Given the description of an element on the screen output the (x, y) to click on. 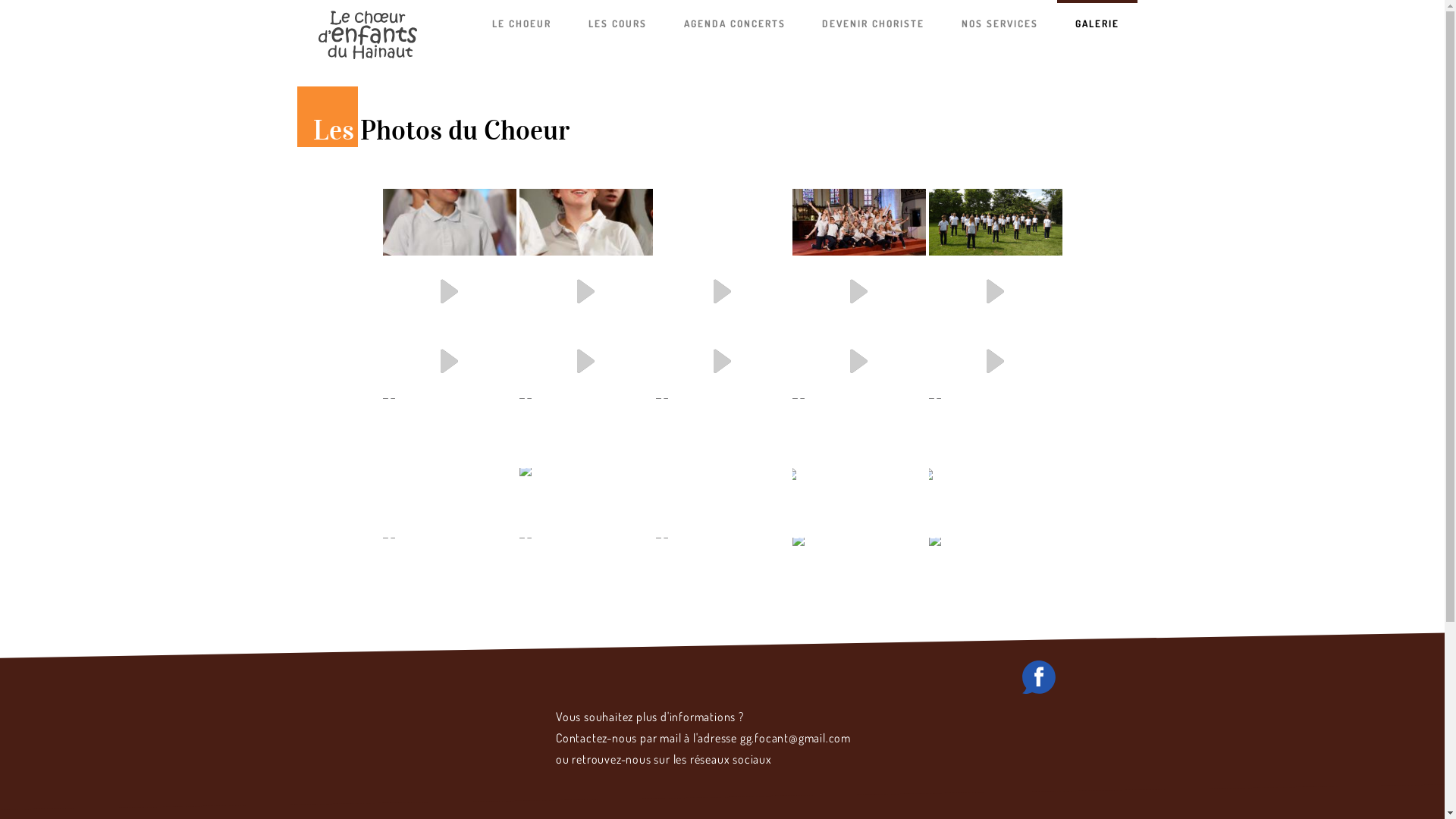
Lecture Element type: hover (448, 291)
Lecture Element type: hover (585, 291)
LES COURS Element type: text (617, 22)
Lecture Element type: hover (721, 361)
Lecture Element type: hover (858, 291)
Lecture Element type: hover (448, 361)
GALERIE Element type: text (1097, 22)
NOS SERVICES Element type: text (999, 22)
Lecture Element type: hover (721, 291)
Lecture Element type: hover (994, 291)
DEVENIR CHORISTE Element type: text (872, 22)
Lecture Element type: hover (858, 361)
LE CHOEUR Element type: text (521, 22)
Lecture Element type: hover (994, 361)
Lecture Element type: hover (585, 361)
AGENDA CONCERTS Element type: text (734, 22)
